Given the description of an element on the screen output the (x, y) to click on. 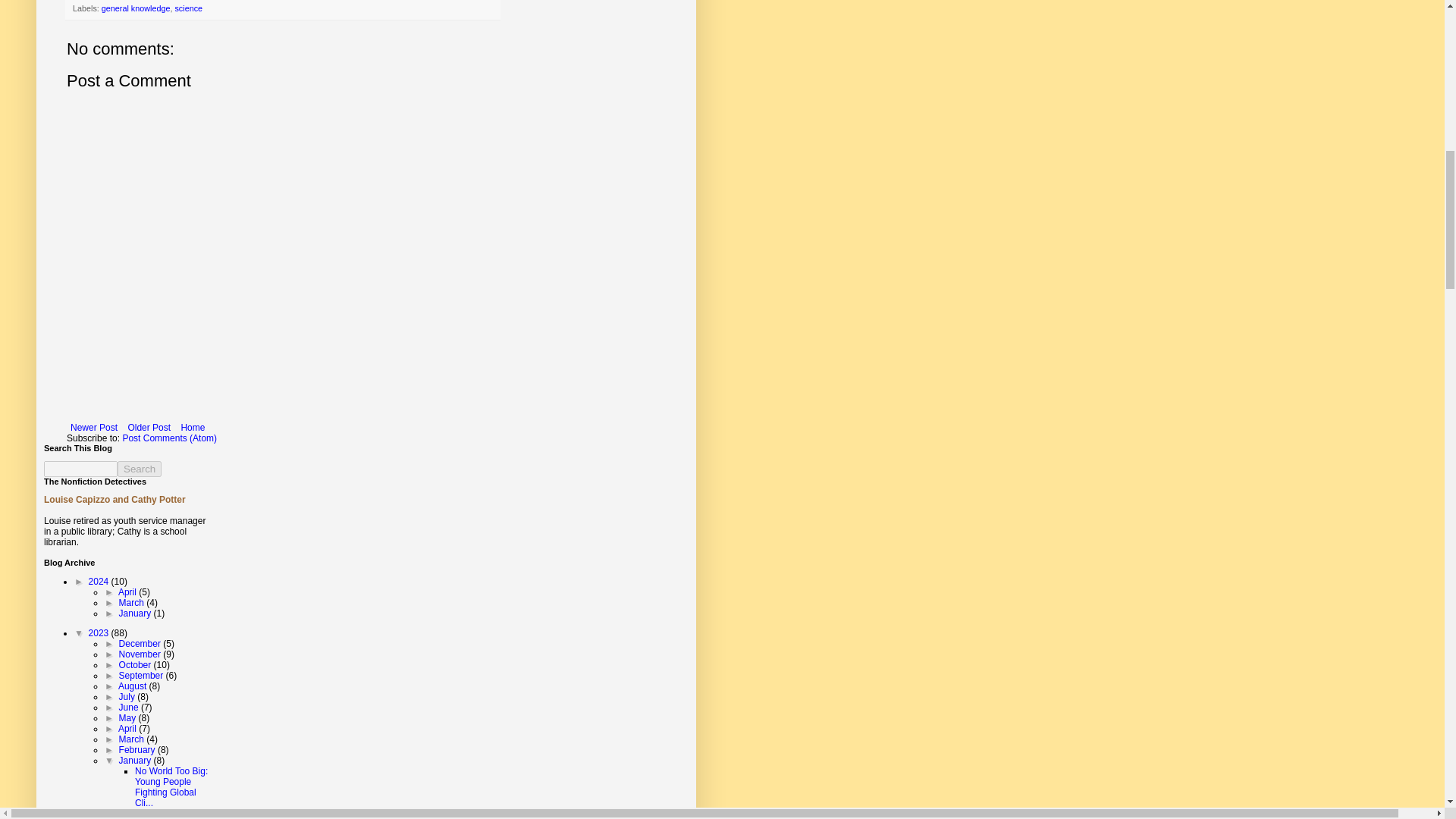
general knowledge (135, 8)
April (127, 592)
Older Post (148, 427)
October (136, 665)
November (141, 654)
Home (192, 427)
search (80, 468)
Newer Post (93, 427)
Search (139, 468)
Search (139, 468)
search (139, 468)
March (133, 602)
Newer Post (93, 427)
January (136, 613)
December (141, 643)
